Given the description of an element on the screen output the (x, y) to click on. 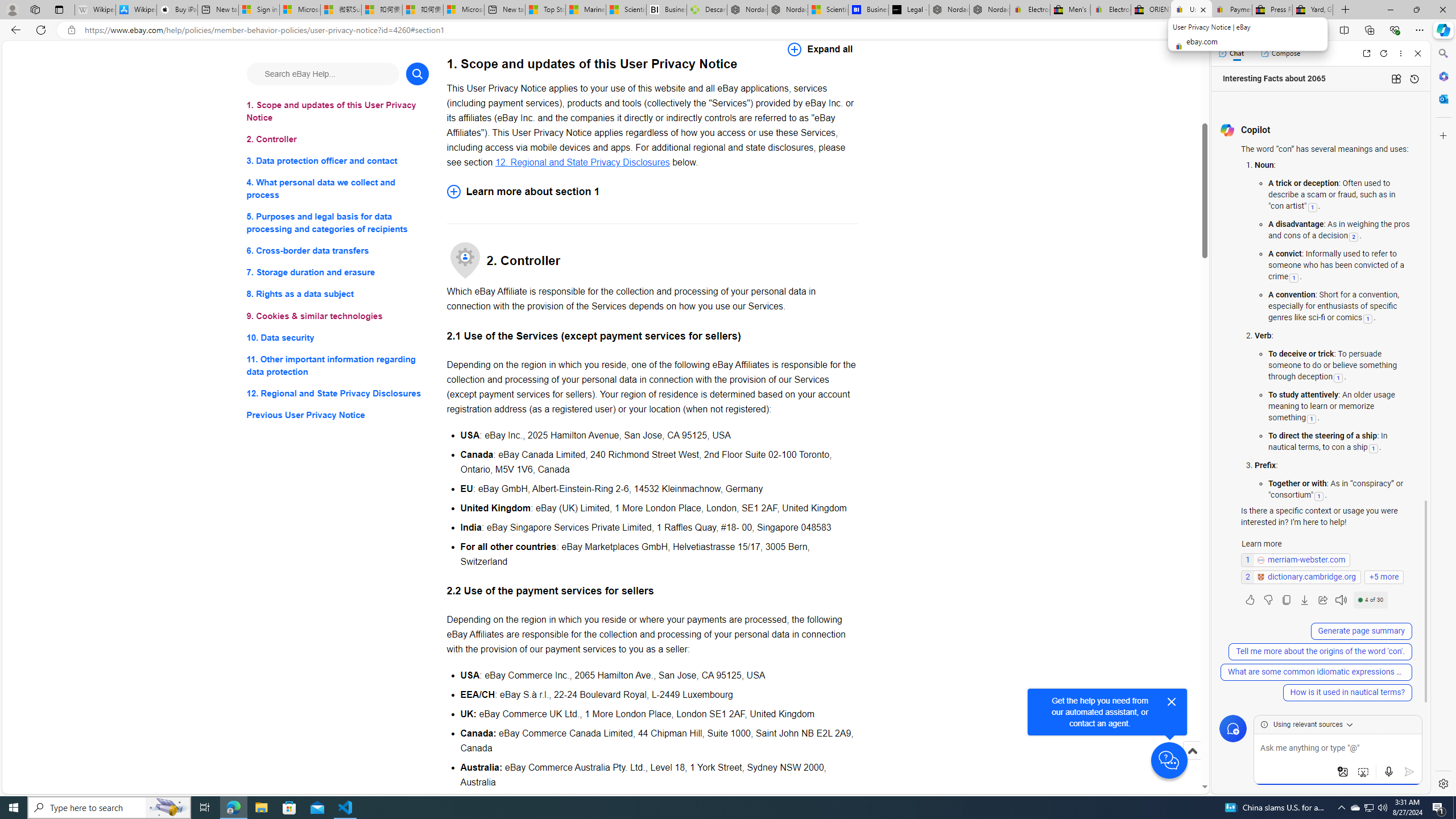
Buy iPad - Apple (176, 9)
4. What personal data we collect and process (337, 189)
Previous User Privacy Notice (337, 414)
6. Cross-border data transfers (337, 250)
Press Room - eBay Inc. (1272, 9)
Chat (1231, 52)
